Given the description of an element on the screen output the (x, y) to click on. 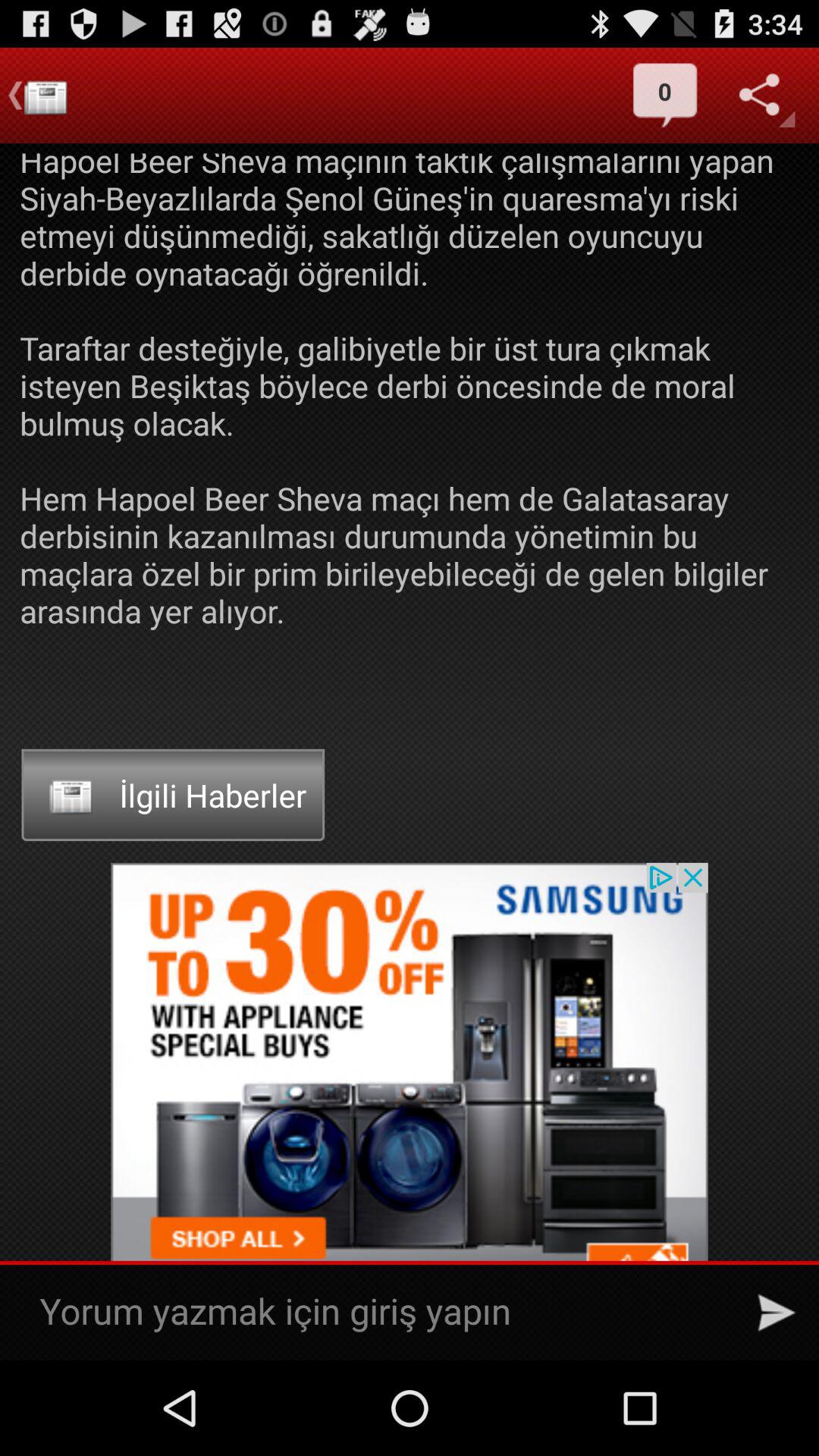
send button (776, 1312)
